Given the description of an element on the screen output the (x, y) to click on. 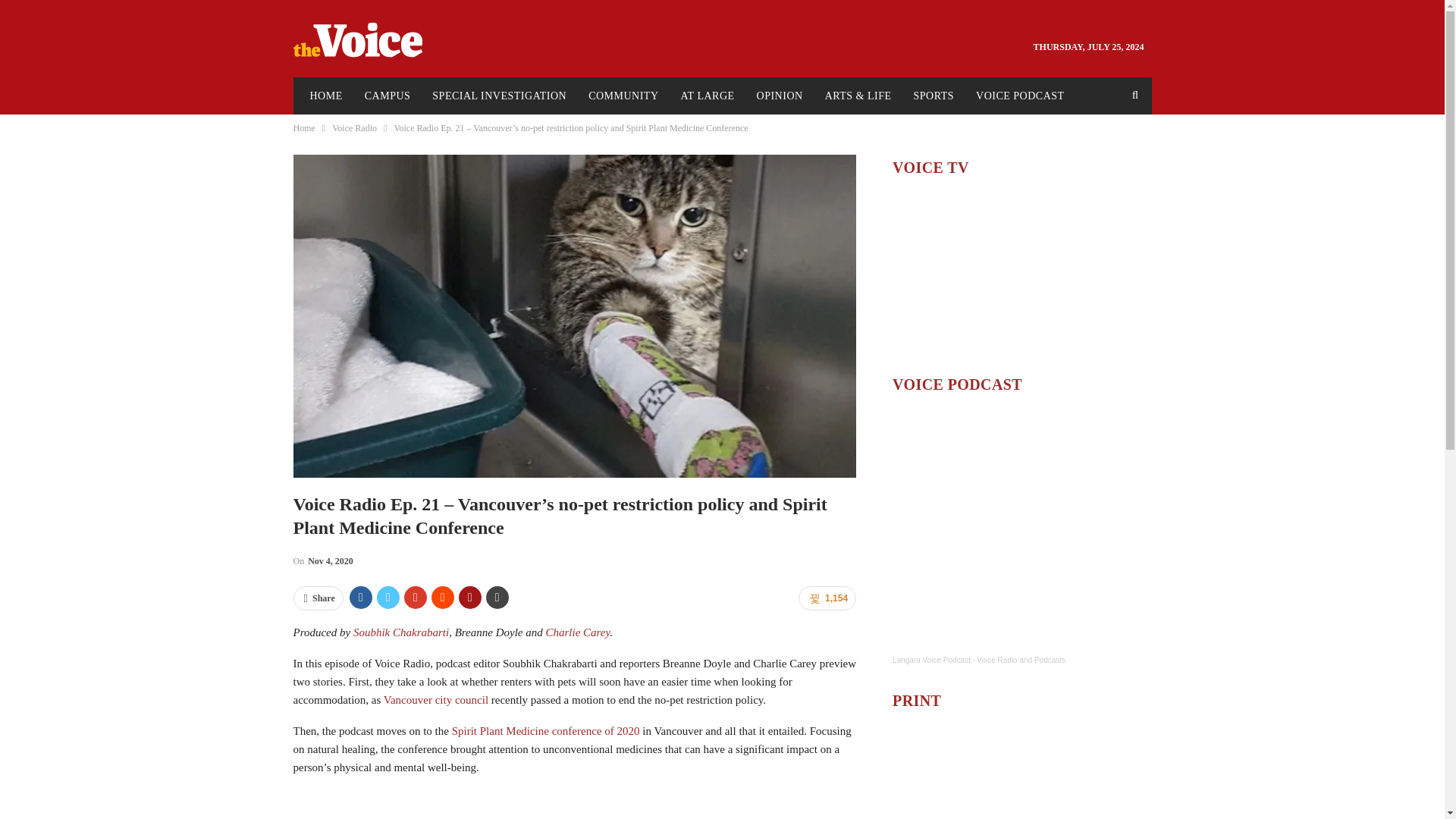
Home (303, 127)
SPORTS (933, 95)
Spirit Plant Medicine conference of 2020 (545, 730)
SPECIAL INVESTIGATION (499, 95)
AT LARGE (707, 95)
CAMPUS (387, 95)
Soubhik Chakrabarti (400, 632)
Voice Radio and Podcasts (1020, 660)
Vancouver city council (435, 699)
COMMUNITY (622, 95)
YouTube video player (1021, 277)
Voice Radio (354, 127)
Langara Voice Podcast (931, 660)
Charlie Carey (578, 632)
HOME (324, 95)
